Given the description of an element on the screen output the (x, y) to click on. 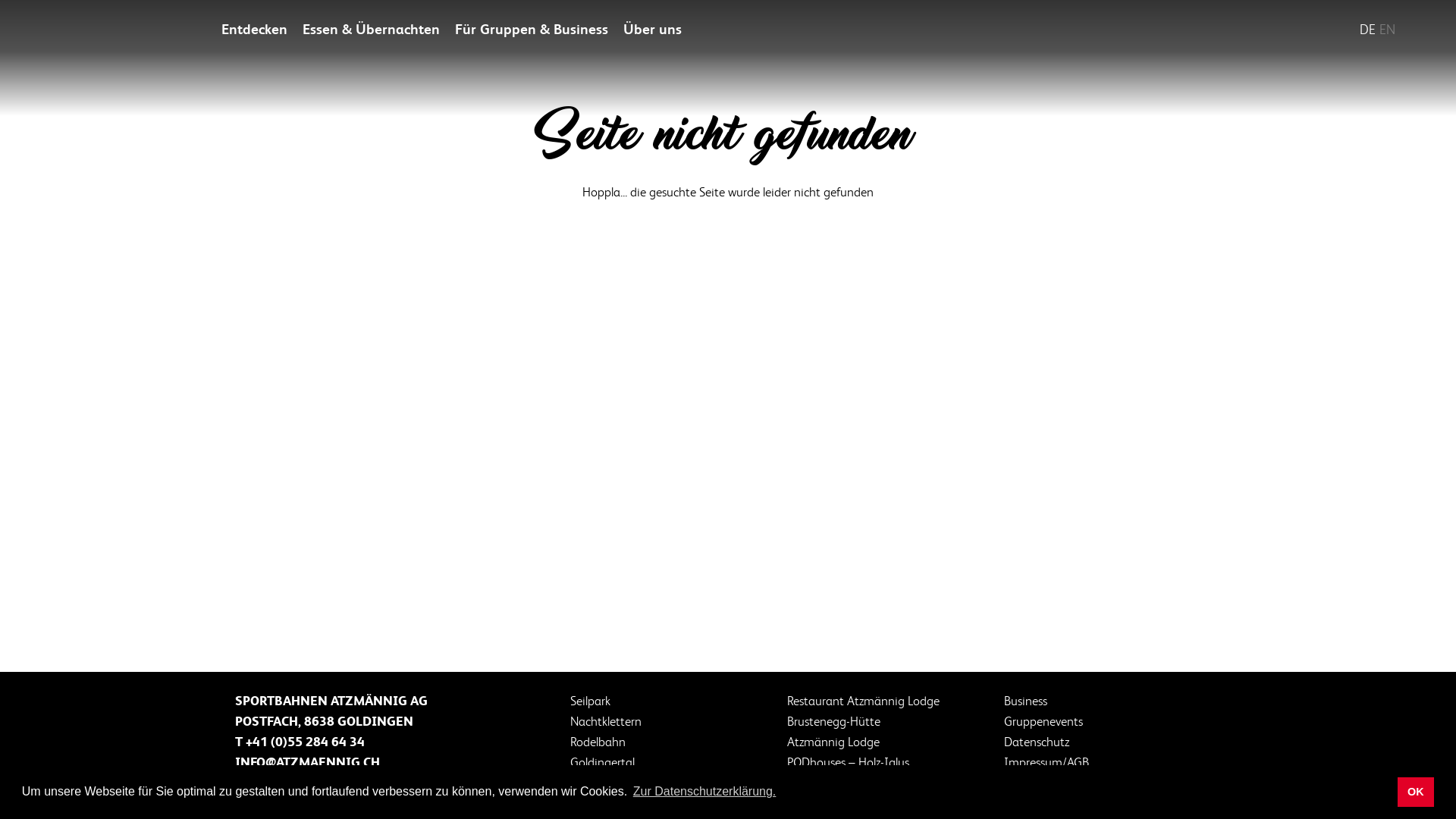
INFO@ATZMAENNIG.CH Element type: text (307, 761)
Business Element type: text (1025, 700)
Seilpark Element type: text (590, 700)
Wetter Element type: hover (1243, 28)
Warenkorb Element type: hover (1337, 28)
OK Element type: text (1415, 791)
Shop Element type: hover (1305, 28)
DE Element type: text (1367, 28)
Impressum/AGB Element type: text (1046, 761)
Nachtklettern Element type: text (605, 720)
Gruppenevents Element type: text (1043, 720)
Webcams Element type: hover (1274, 28)
EN Element type: text (1387, 28)
Suche Element type: hover (1181, 28)
Datenschutz Element type: text (1036, 741)
Online-Shop Element type: text (601, 782)
Rodelbahn Element type: text (597, 741)
Anlagen Element type: hover (1212, 28)
Goldingertal Element type: text (602, 761)
